Given the description of an element on the screen output the (x, y) to click on. 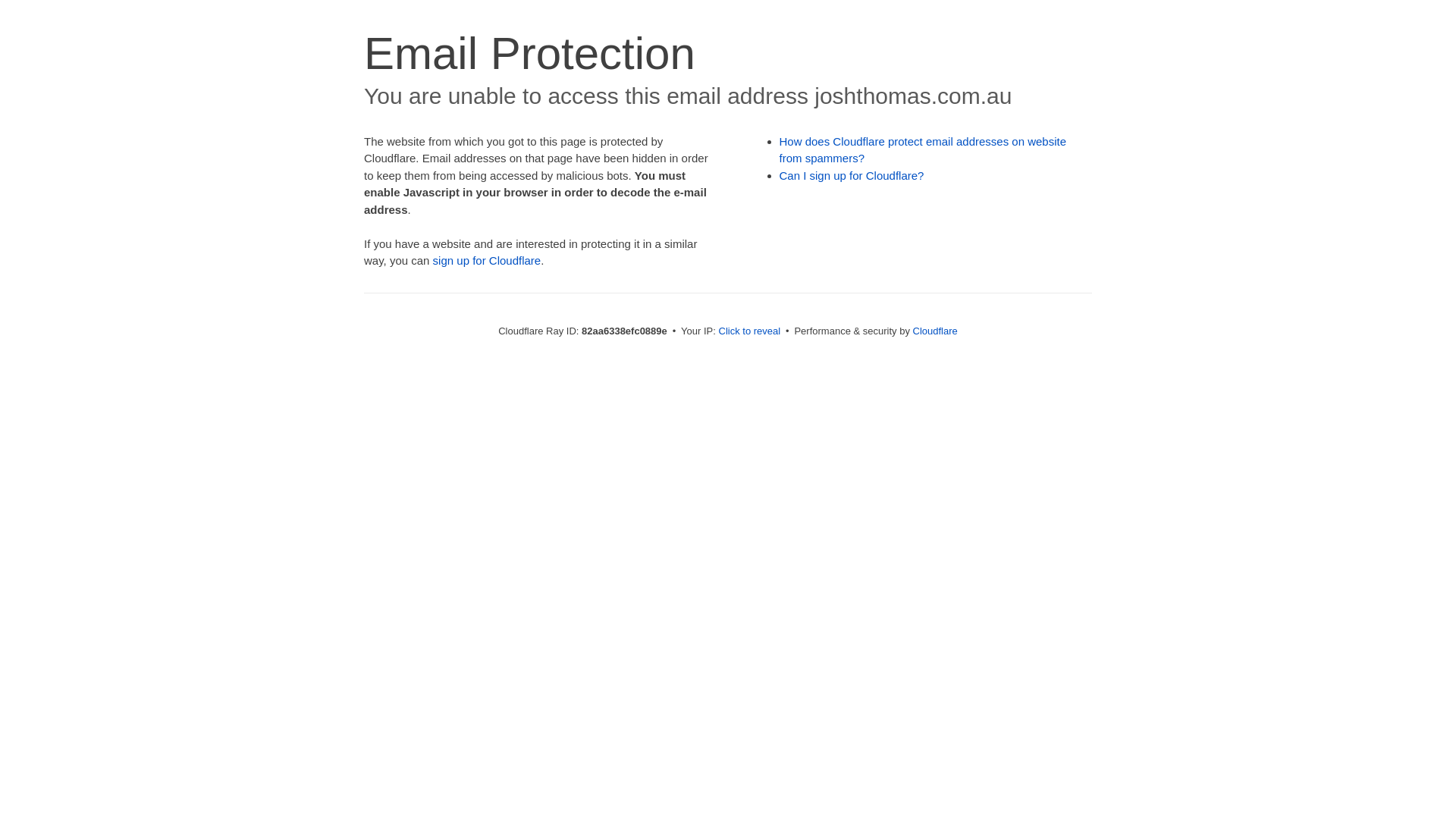
Cloudflare Element type: text (935, 330)
Can I sign up for Cloudflare? Element type: text (851, 175)
sign up for Cloudflare Element type: text (487, 260)
Click to reveal Element type: text (749, 330)
